Given the description of an element on the screen output the (x, y) to click on. 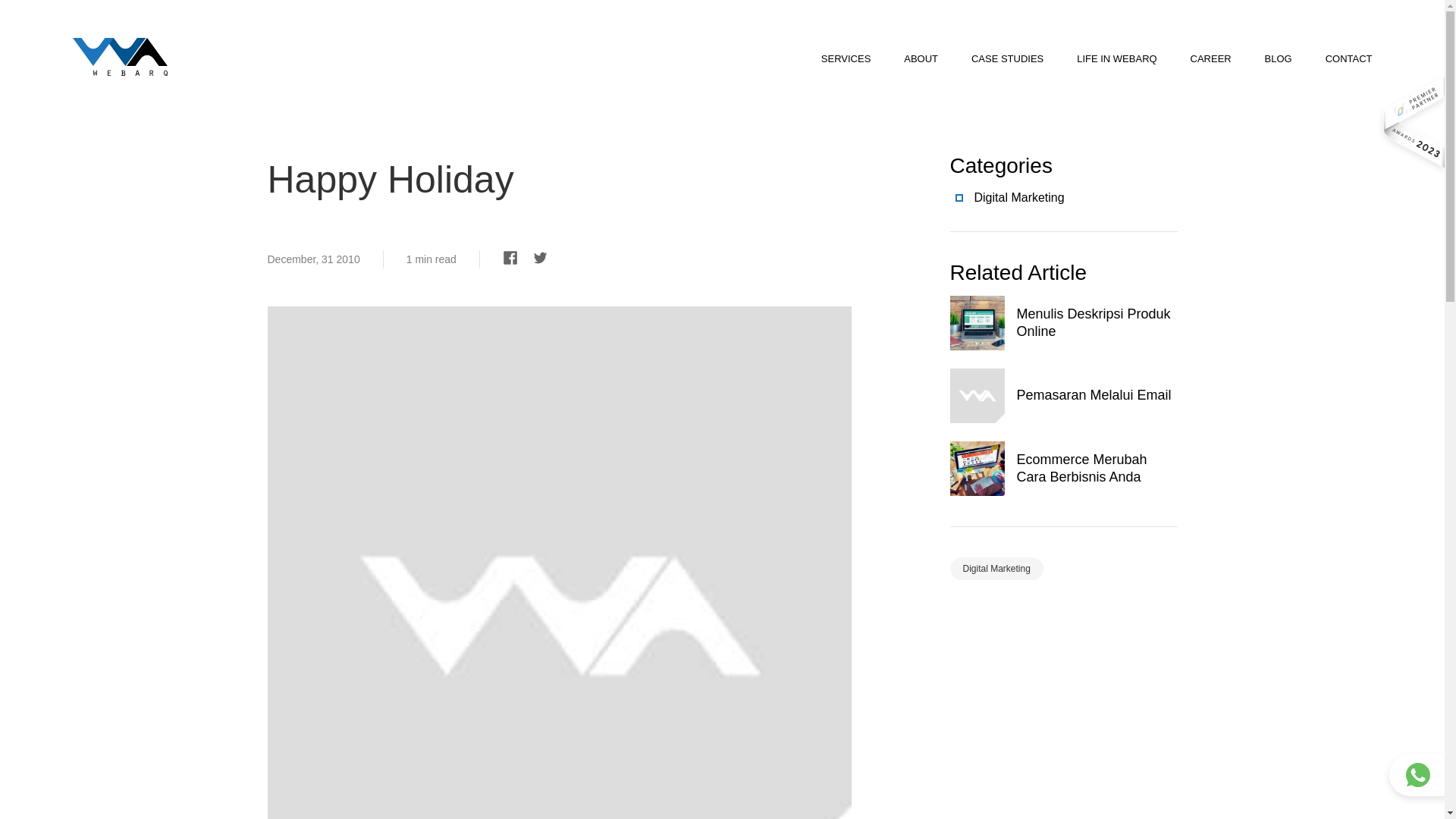
Pemasaran Melalui Email (1062, 395)
SERVICES (845, 58)
Digital Marketing (1062, 198)
CONTACT (1348, 58)
Ecommerce Merubah Cara Berbisnis Anda (1062, 468)
Menulis Deskripsi Produk Online (1062, 322)
Digital Marketing (995, 568)
BLOG (1278, 58)
CASE STUDIES (1007, 58)
LIFE IN WEBARQ (1116, 58)
ABOUT (920, 58)
CAREER (1211, 58)
